Given the description of an element on the screen output the (x, y) to click on. 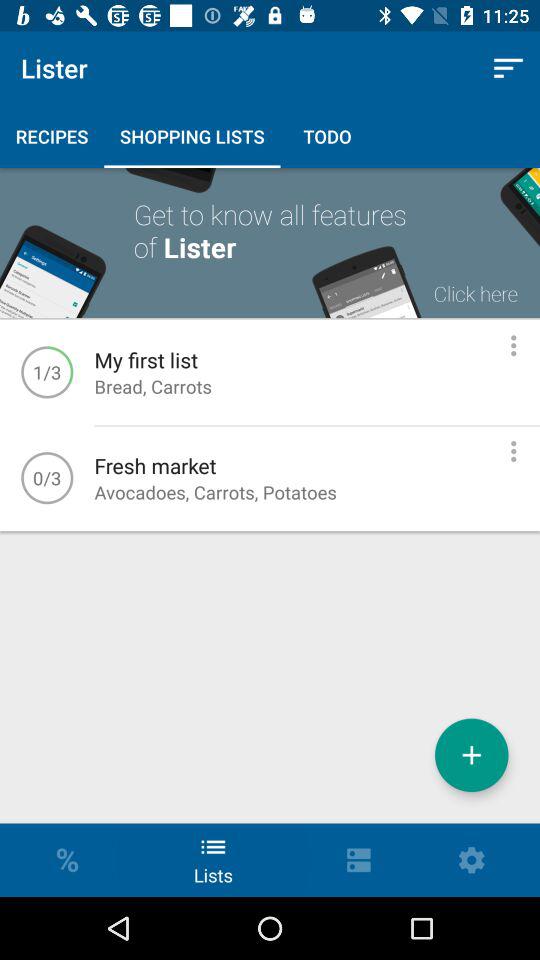
open the side menu (513, 451)
